Given the description of an element on the screen output the (x, y) to click on. 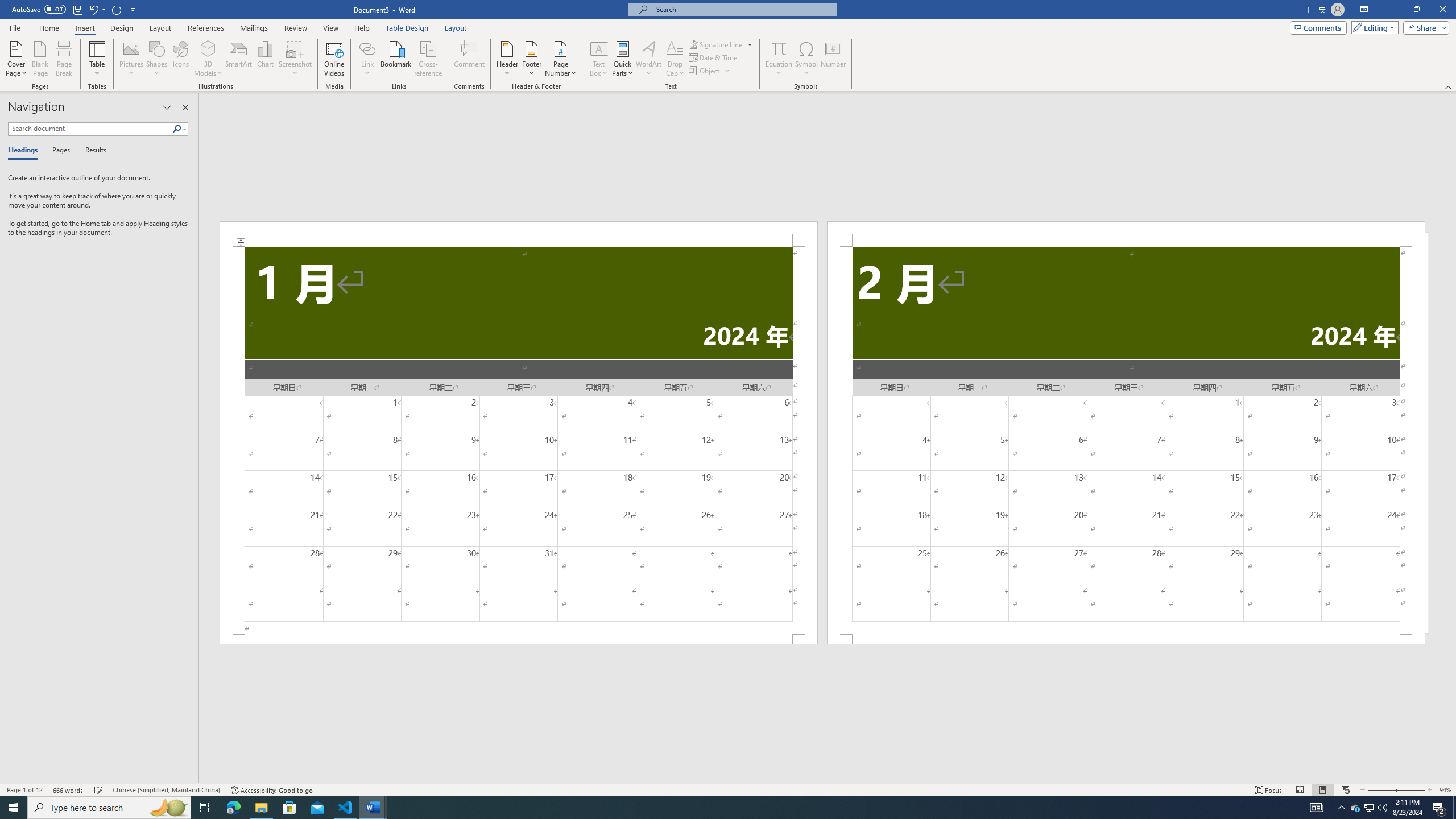
Link (367, 48)
Shapes (156, 58)
Symbol (806, 58)
Screenshot (295, 58)
Headings (25, 150)
Pages (59, 150)
Pictures (131, 58)
Accessibility Checker Accessibility: Good to go (271, 790)
Page 1 content (518, 439)
